Given the description of an element on the screen output the (x, y) to click on. 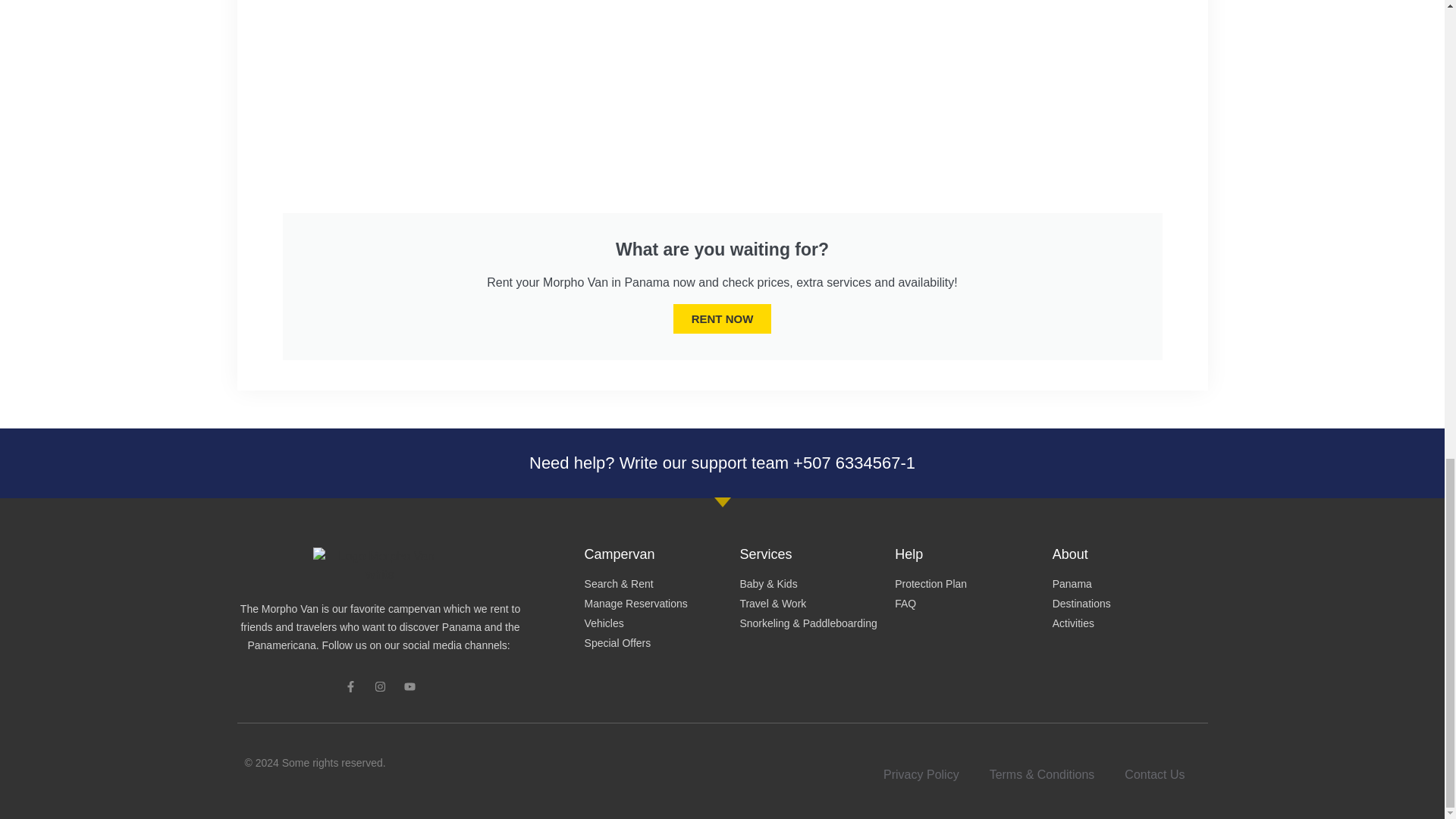
Manage Reservations (662, 603)
Special Offers (662, 643)
Vehicles (662, 623)
